Given the description of an element on the screen output the (x, y) to click on. 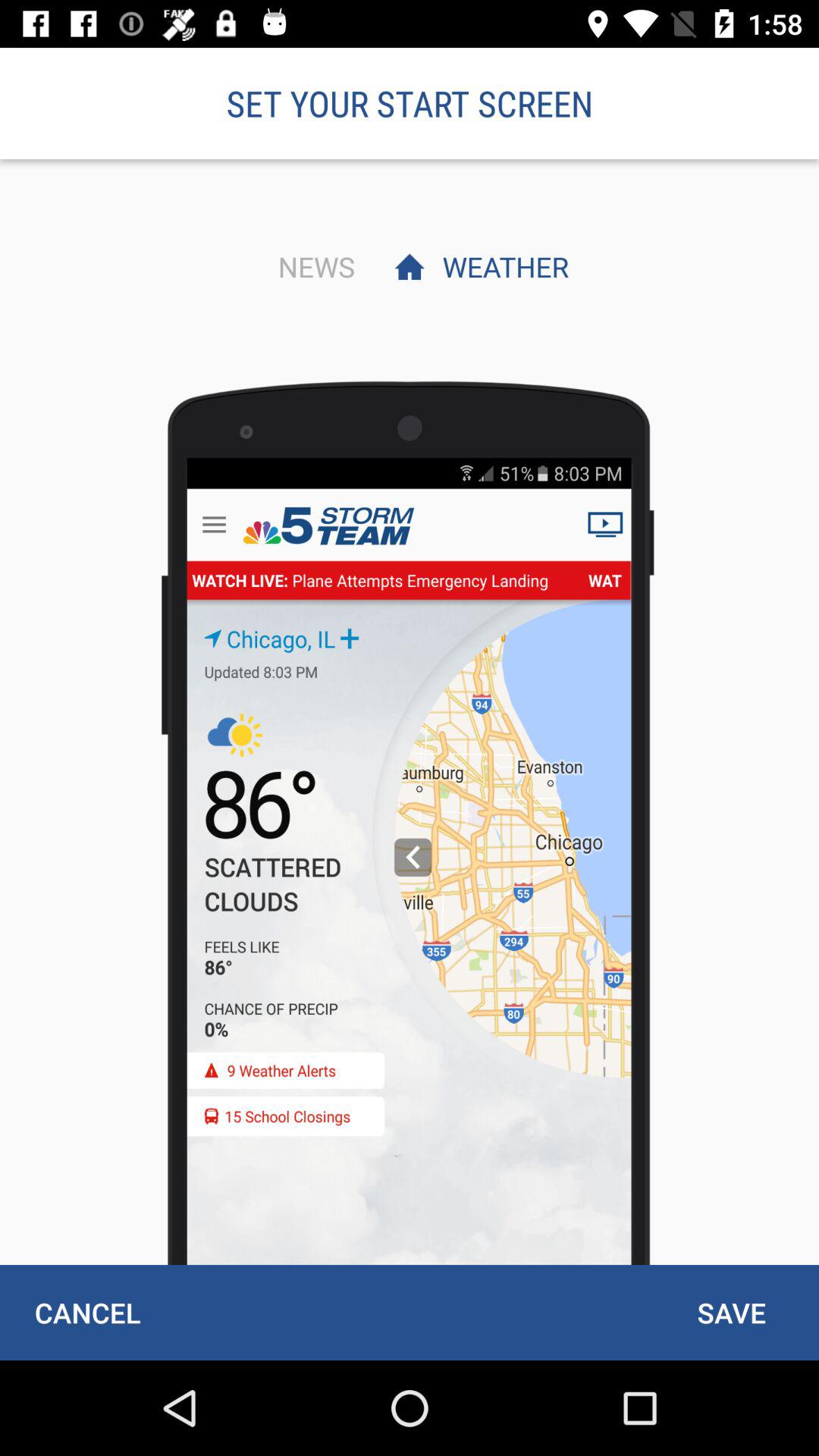
choose save item (731, 1312)
